Given the description of an element on the screen output the (x, y) to click on. 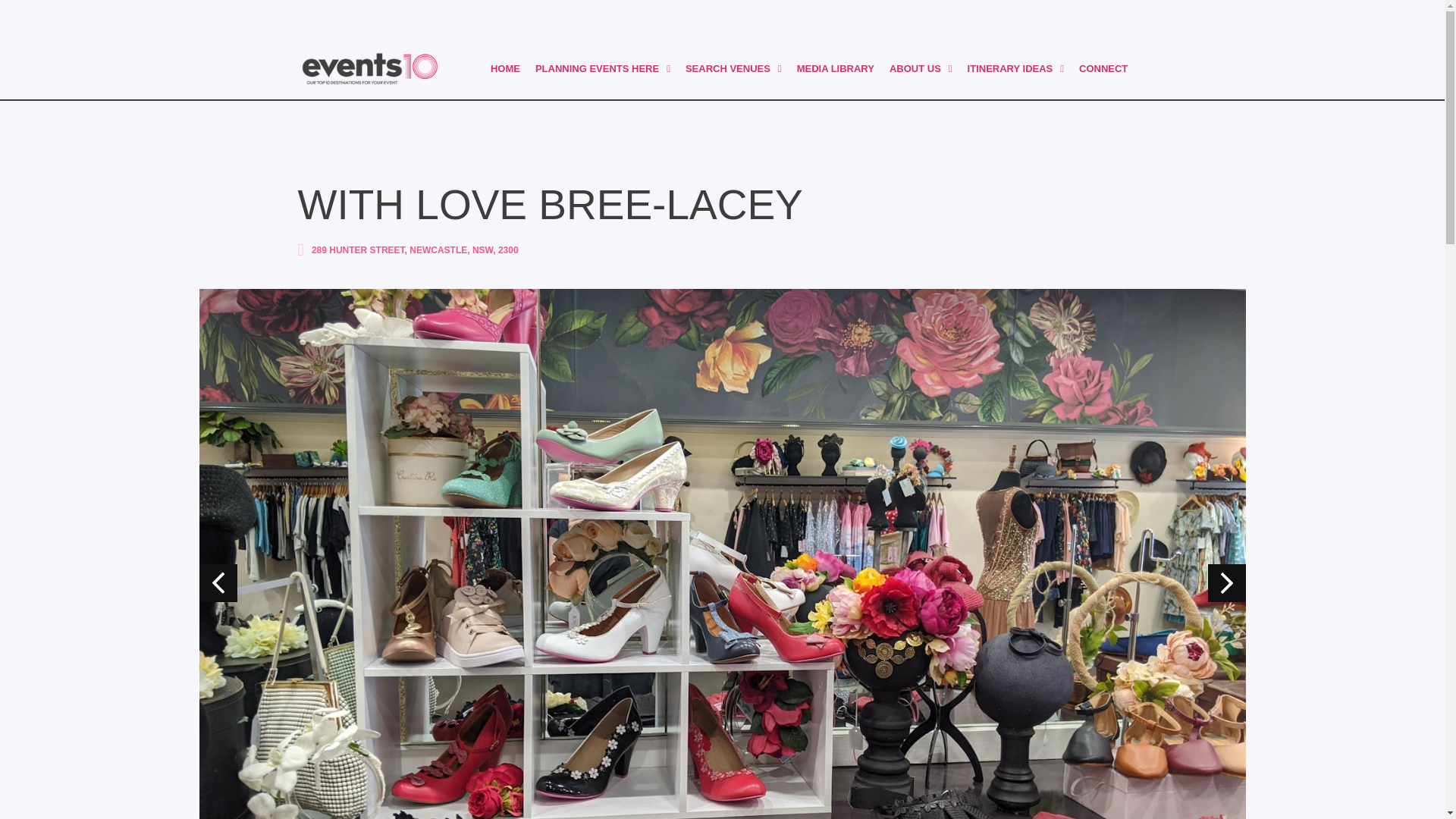
SEARCH VENUES (732, 68)
PLANNING EVENTS HERE (602, 68)
ITINERARY IDEAS (1015, 68)
HOME (505, 68)
ABOUT US (921, 68)
CONNECT (1103, 68)
MEDIA LIBRARY (835, 68)
